Given the description of an element on the screen output the (x, y) to click on. 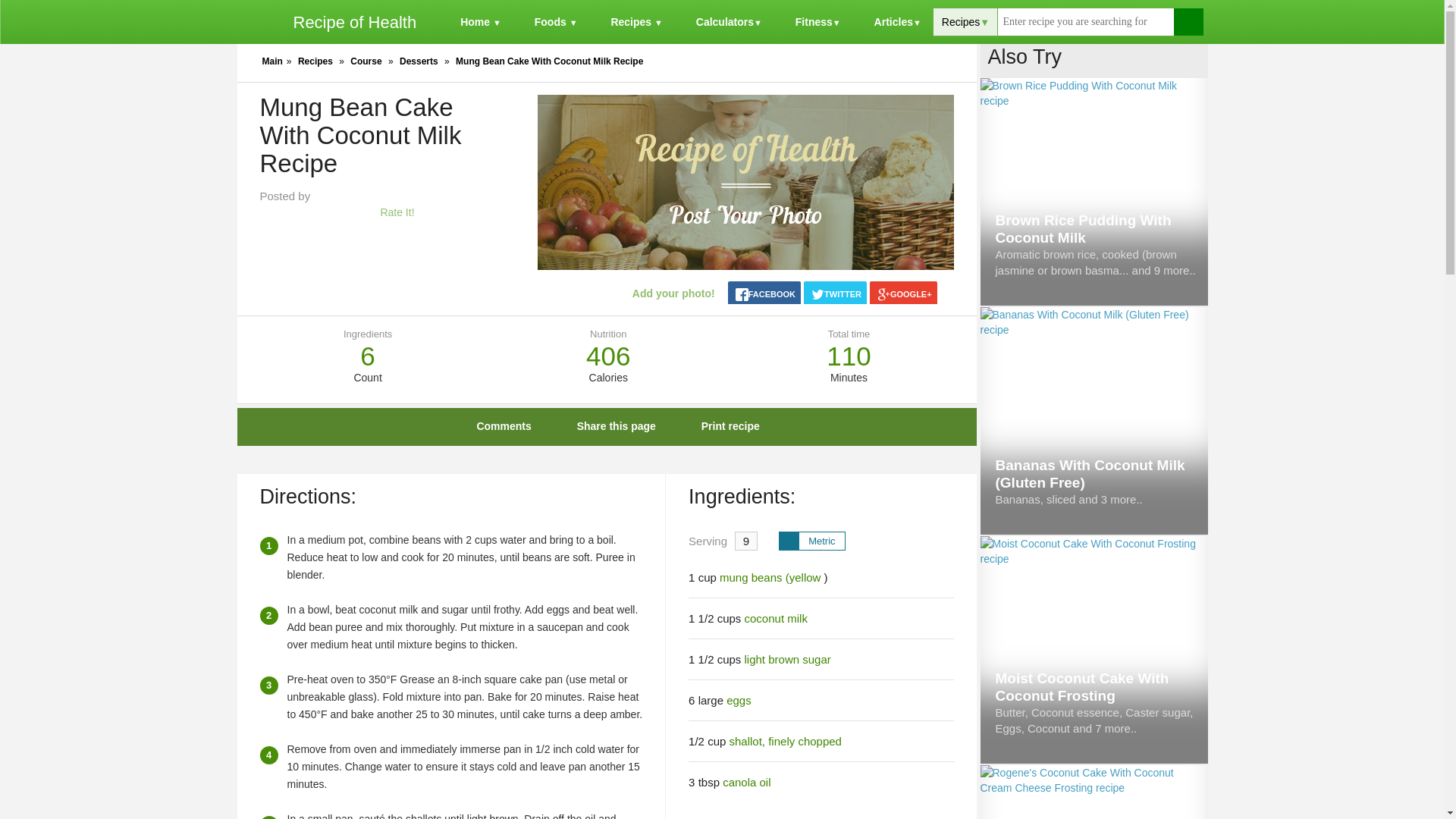
Recipes (315, 61)
light brown sugar (787, 658)
Add your photo! (662, 293)
shallot, finely chopped (785, 740)
coconut milk (776, 617)
406 (608, 356)
Share this page (605, 425)
Ingredients (367, 333)
6 (366, 356)
Course (365, 61)
Main (272, 61)
9 (746, 540)
Print recipe (719, 425)
Total time (849, 333)
Desserts (418, 61)
